Given the description of an element on the screen output the (x, y) to click on. 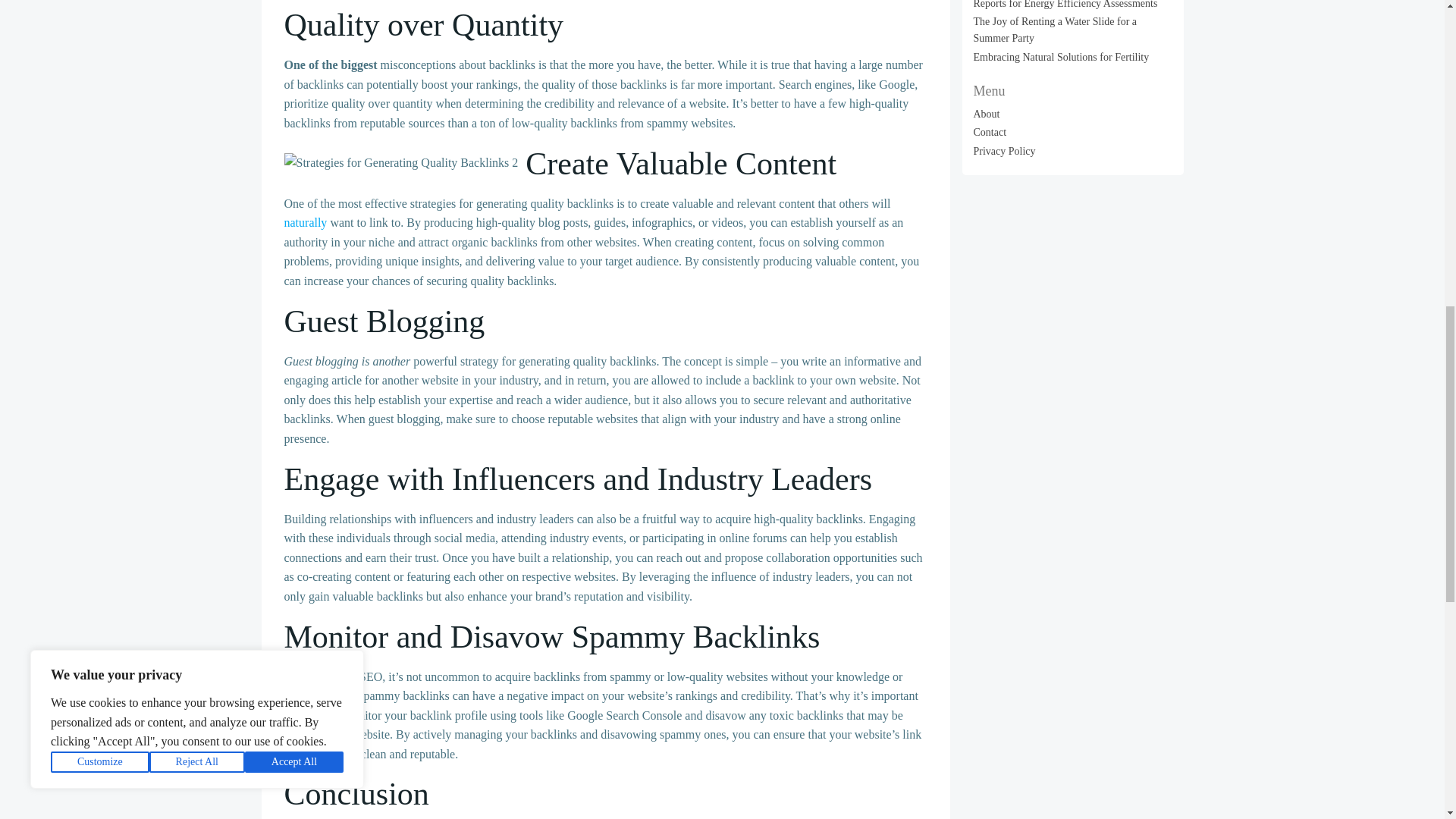
naturally (304, 222)
